Given the description of an element on the screen output the (x, y) to click on. 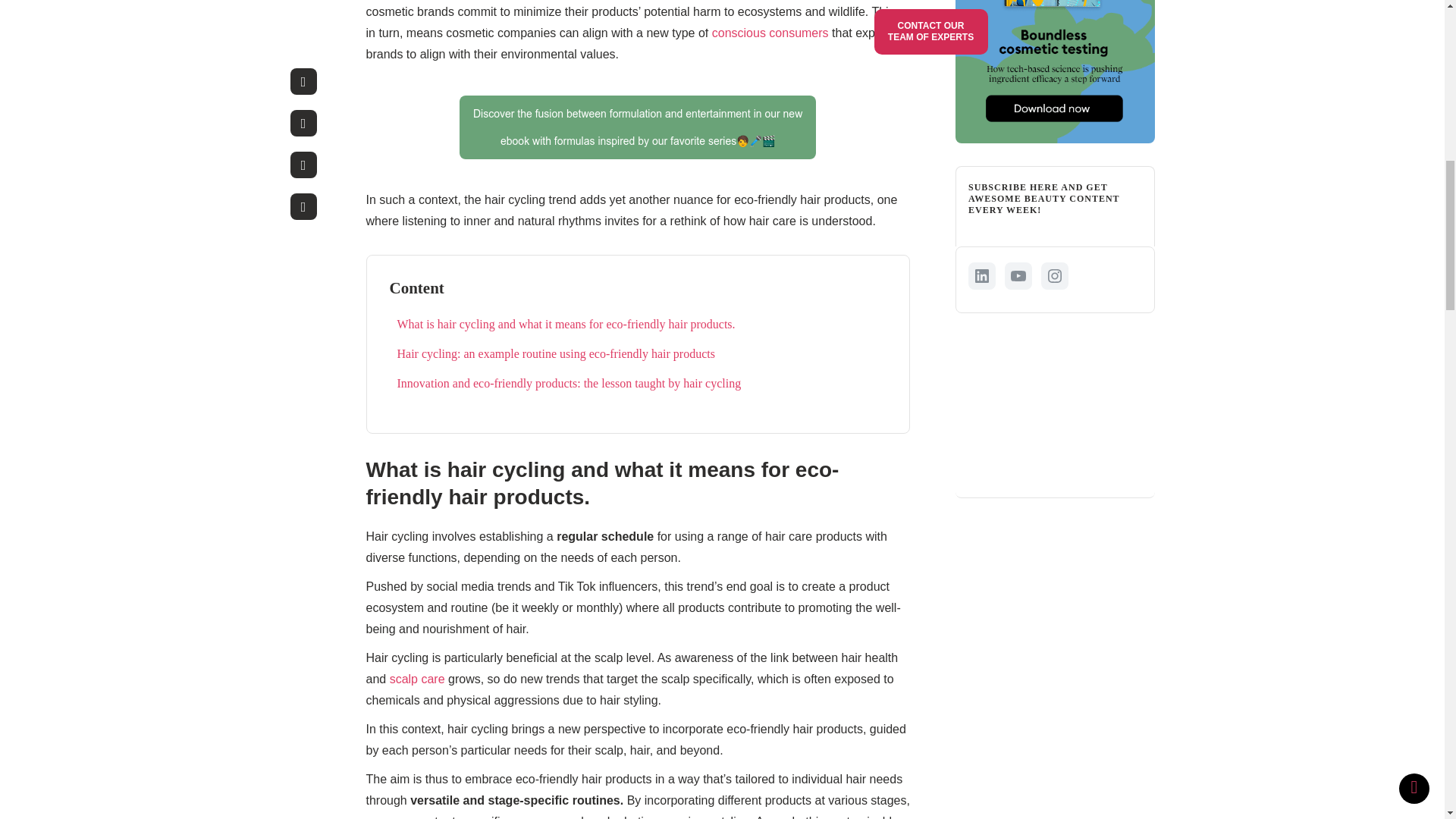
conscious consumers (771, 32)
scalp care (419, 678)
